Given the description of an element on the screen output the (x, y) to click on. 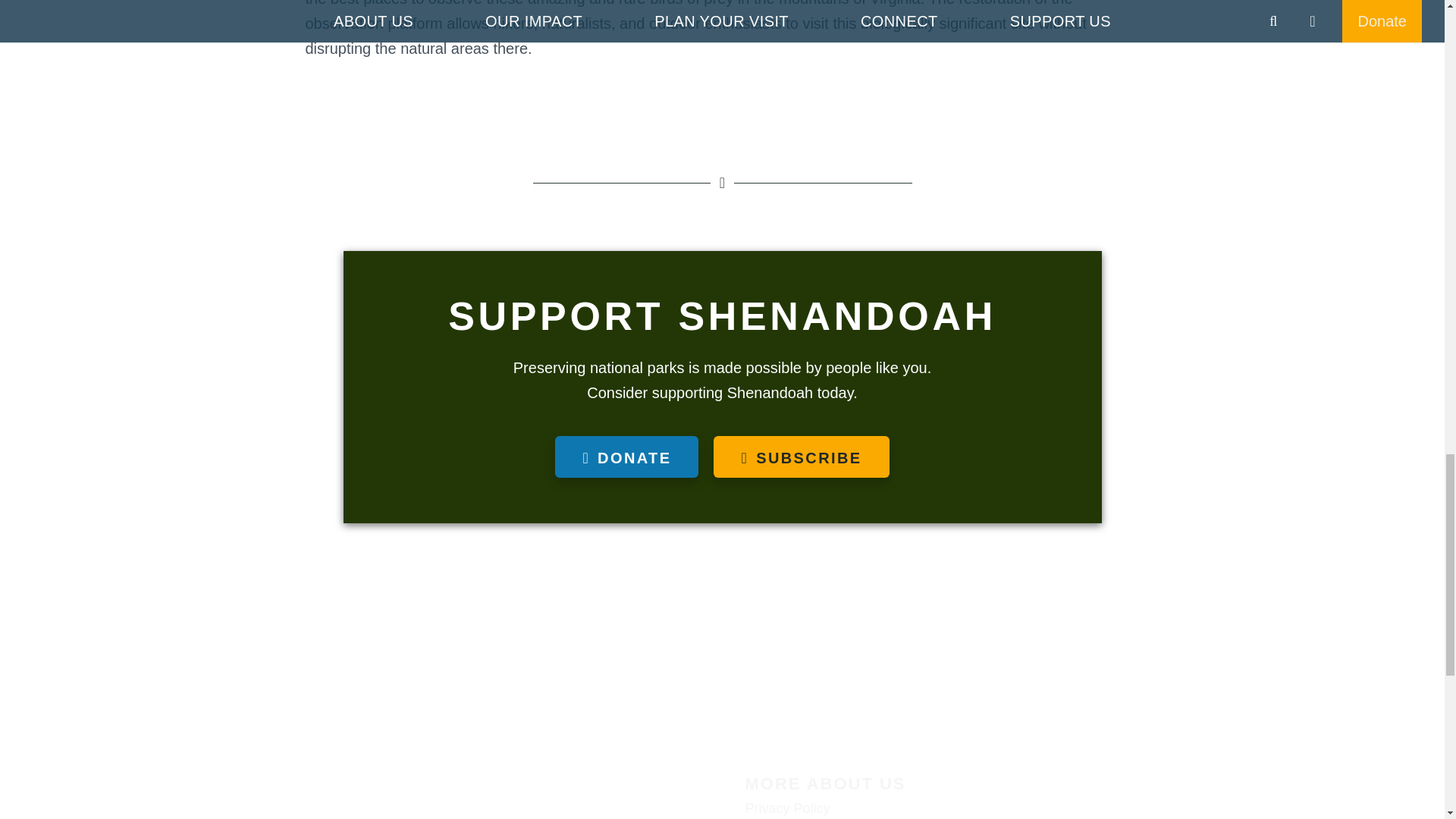
Donate (626, 456)
